Given the description of an element on the screen output the (x, y) to click on. 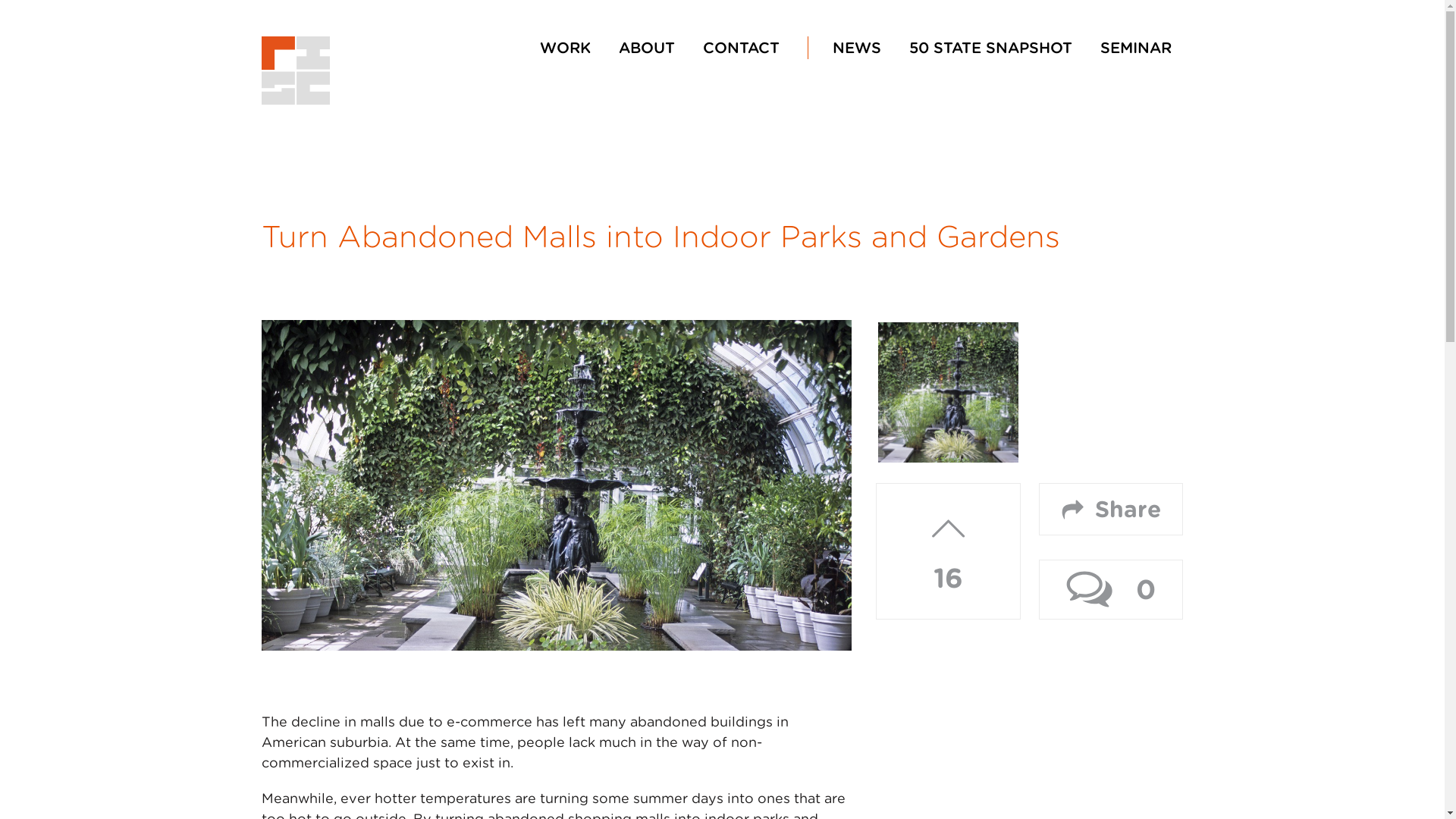
16 (948, 551)
CONTACT (740, 47)
SEMINAR (1134, 47)
NEWS (849, 47)
WORK (564, 47)
Share (1110, 509)
50 STATE SNAPSHOT (989, 47)
ABOUT (647, 47)
0 (1110, 588)
